Given the description of an element on the screen output the (x, y) to click on. 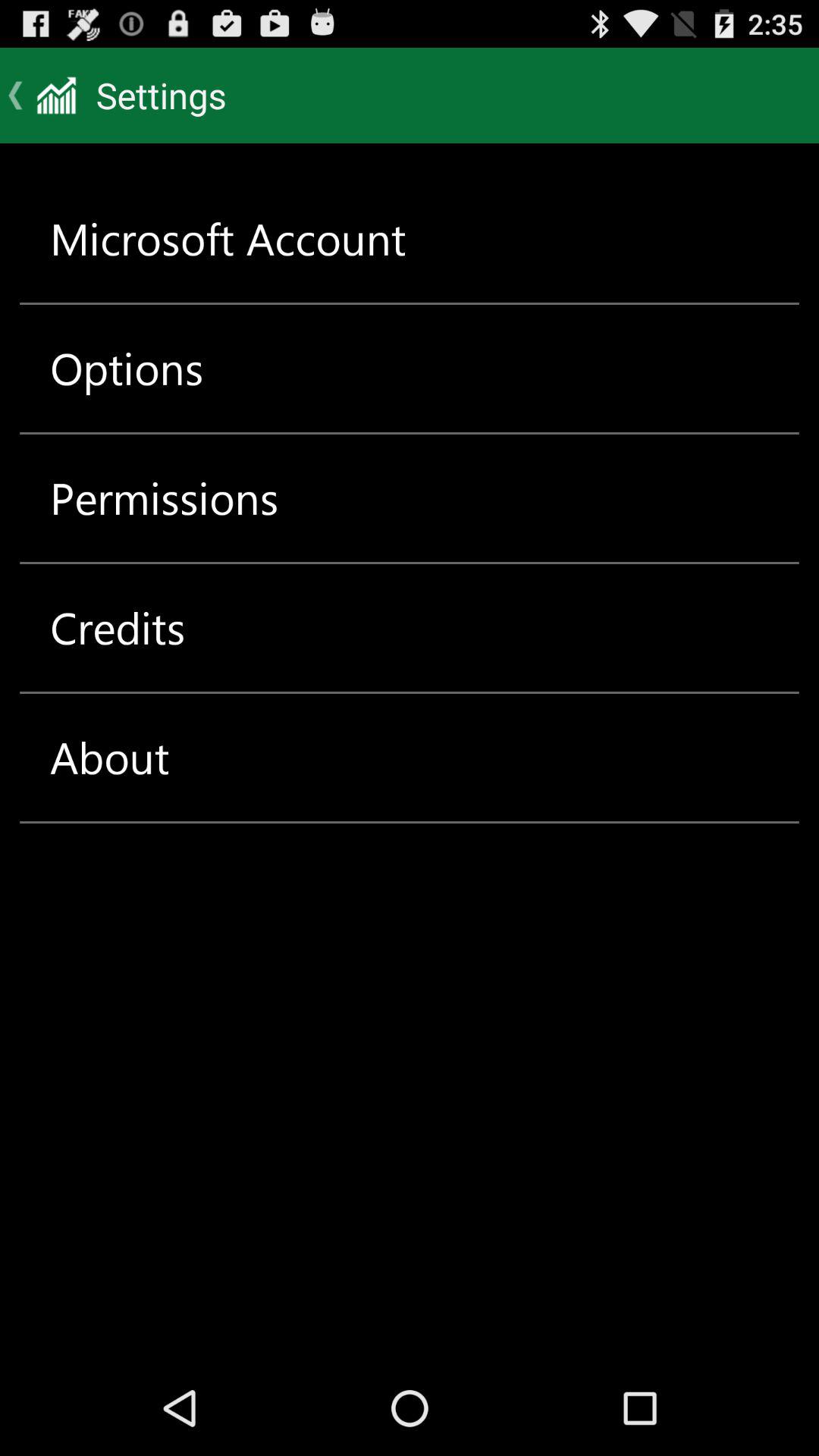
scroll until the permissions icon (164, 497)
